Given the description of an element on the screen output the (x, y) to click on. 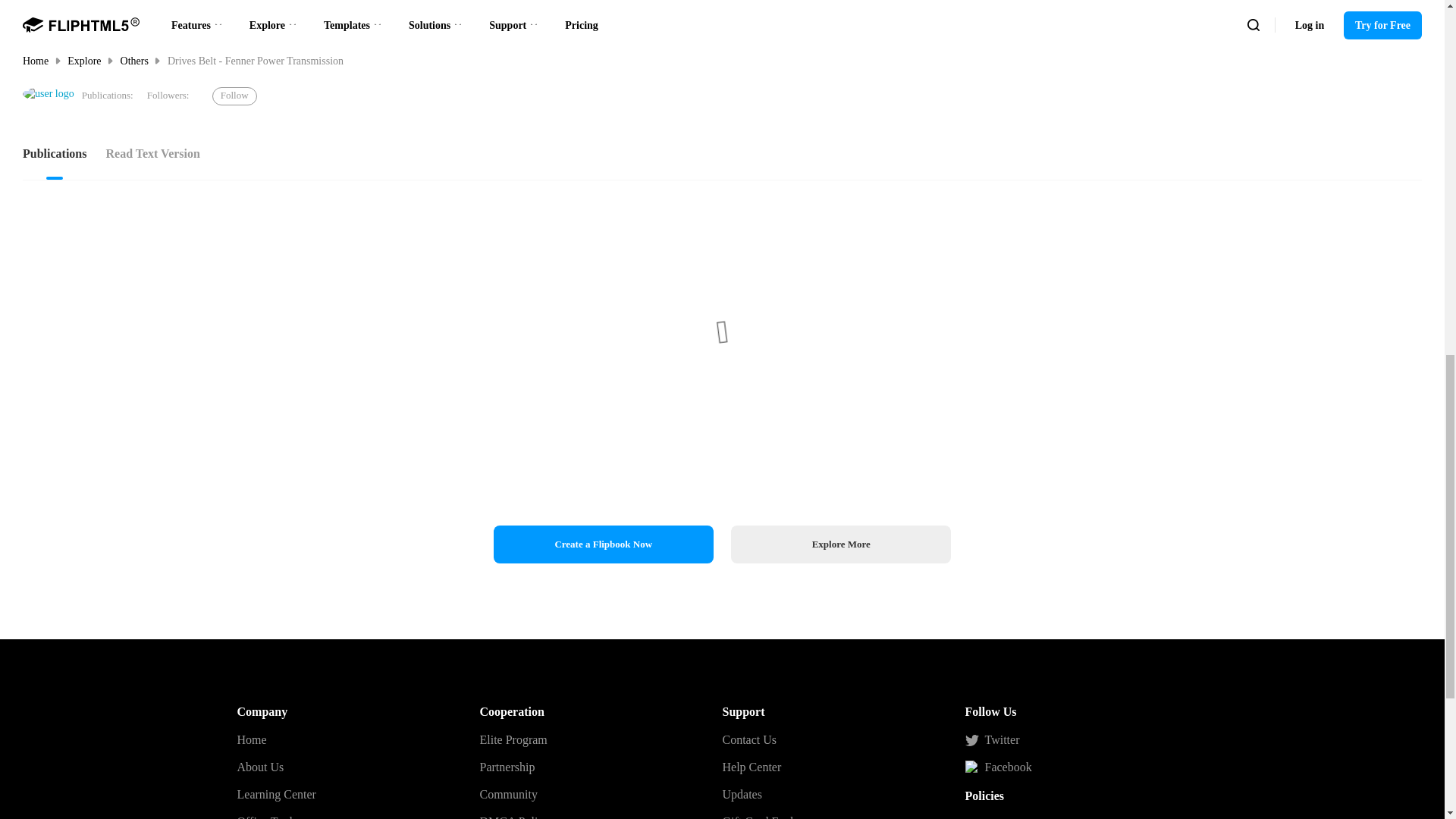
Visit Homepage (48, 93)
